Given the description of an element on the screen output the (x, y) to click on. 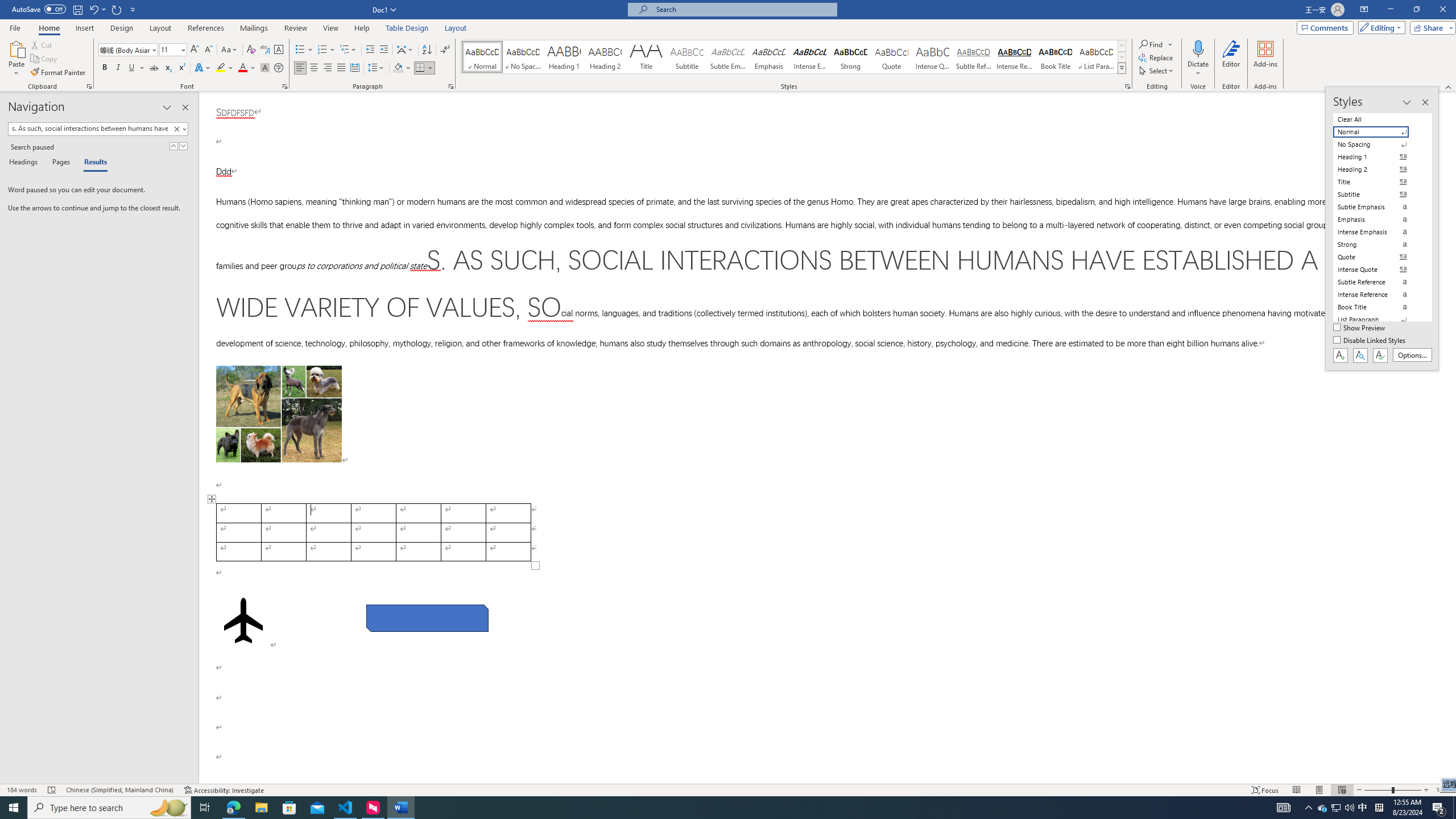
Disable Linked Styles (1370, 340)
Undo Style (92, 9)
Open (182, 49)
Increase Indent (383, 49)
Search document (89, 128)
Change Case (229, 49)
Spelling and Grammar Check Errors (52, 790)
Editing (1379, 27)
Morphological variation in six dogs (278, 414)
Rectangle: Diagonal Corners Snipped 2 (427, 618)
